Given the description of an element on the screen output the (x, y) to click on. 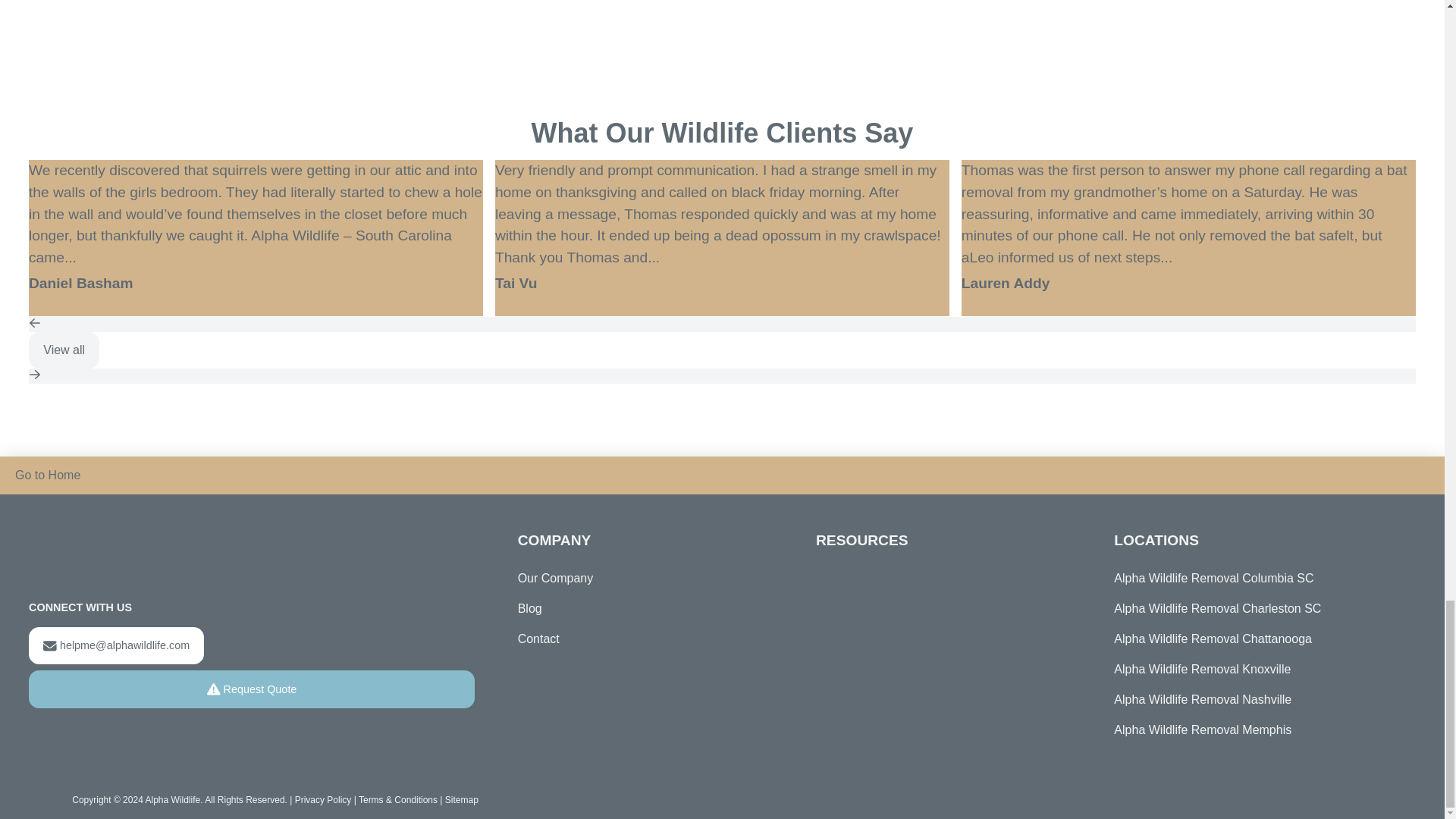
Alpha Wildlife Removal Nashville (1254, 699)
Alpha Wildlife Removal Knoxville (1254, 669)
Sitemap (462, 799)
Request Quote (251, 689)
Alpha Wildlife Removal Chattanooga (1254, 639)
Alpha Wildlife Removal Columbia SC (1254, 578)
Alpha Wildlife Removal Memphis (1254, 729)
View all (64, 350)
Privacy Policy (323, 799)
Contact (538, 639)
Our Company (556, 578)
Alpha Wildlife Removal Charleston SC (1254, 608)
